Given the description of an element on the screen output the (x, y) to click on. 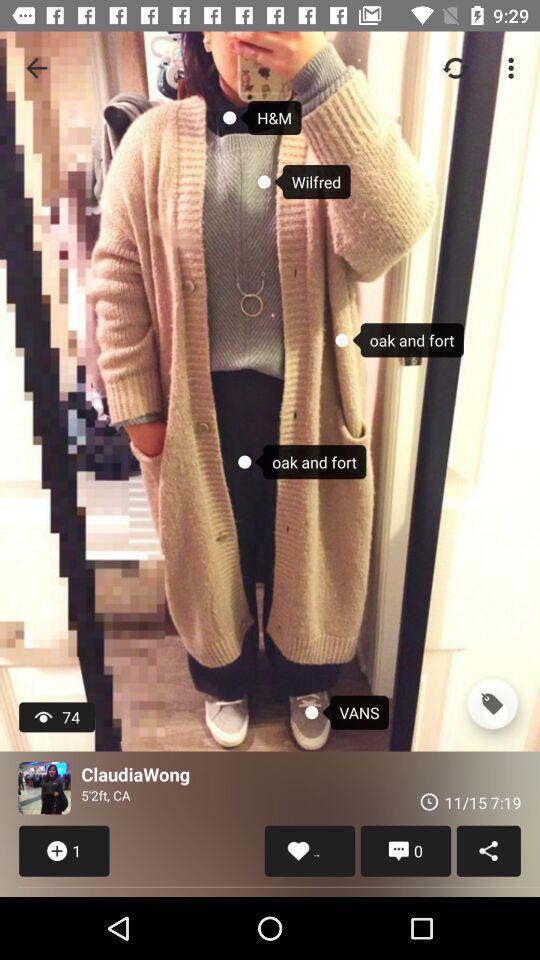
launch the icon above the 74 item (36, 68)
